Given the description of an element on the screen output the (x, y) to click on. 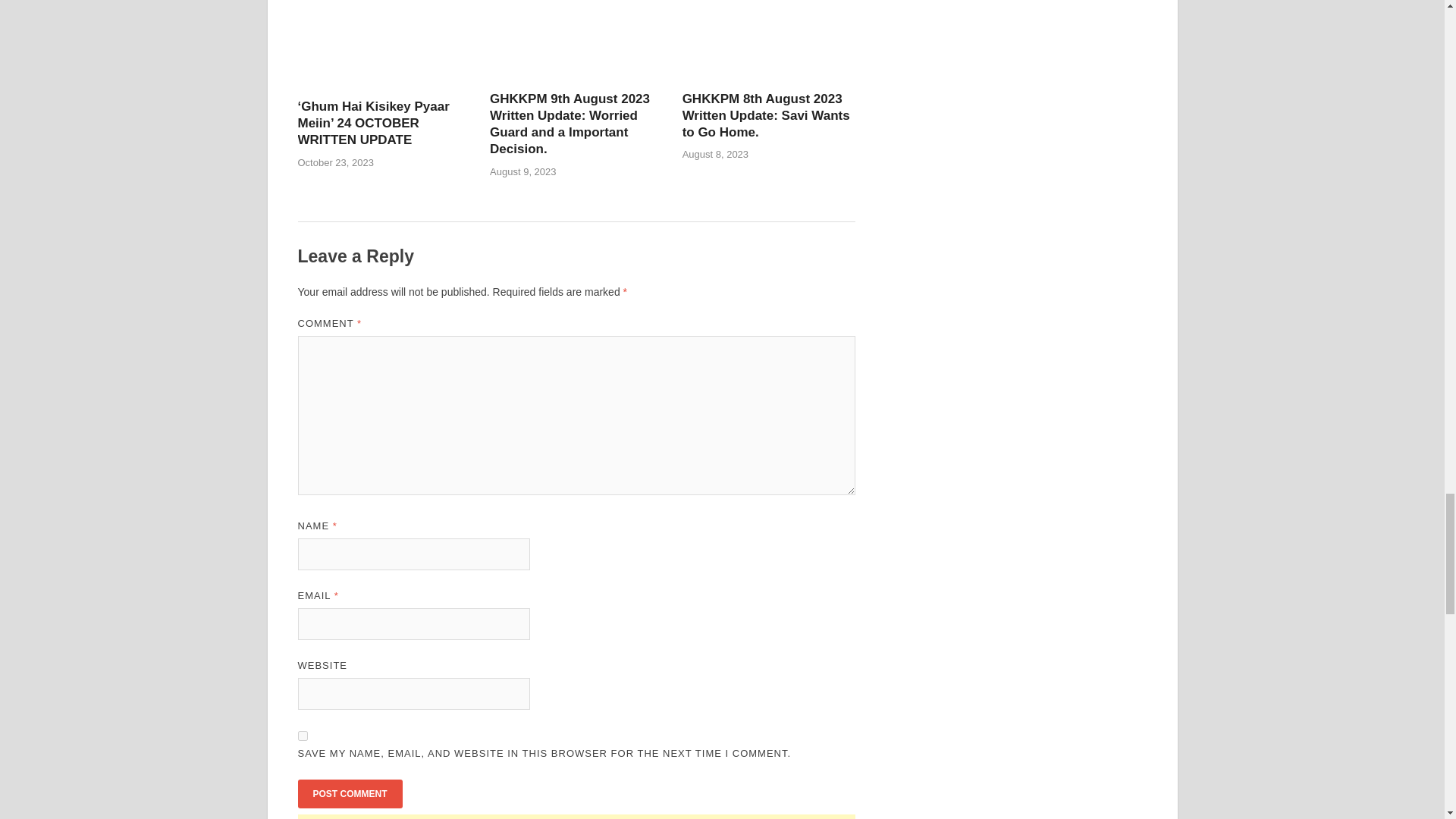
Post Comment (349, 793)
Post Comment (349, 793)
yes (302, 736)
